Given the description of an element on the screen output the (x, y) to click on. 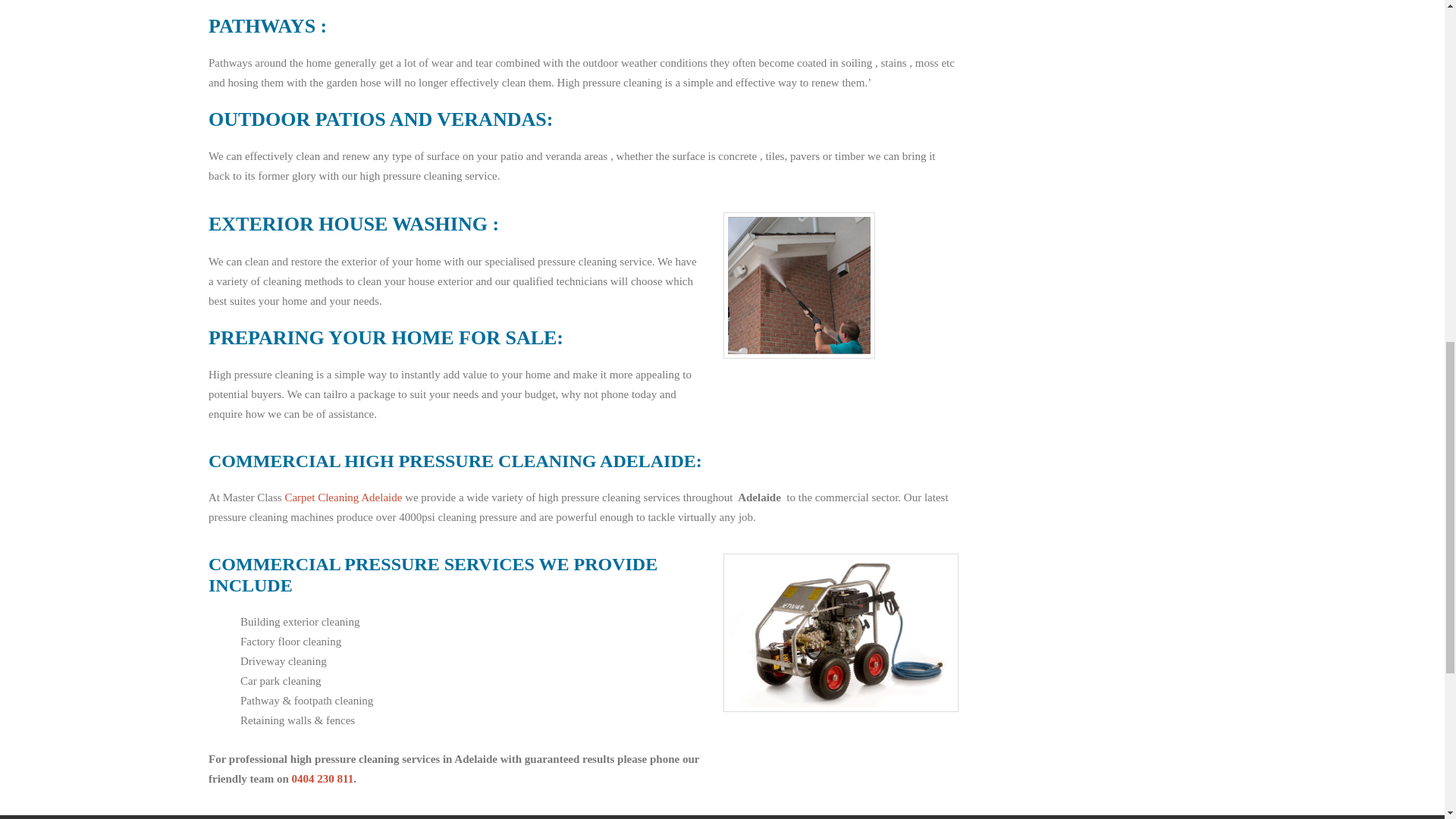
0404 230 811 (322, 778)
Carpet Cleaning Adelaide (342, 497)
